Given the description of an element on the screen output the (x, y) to click on. 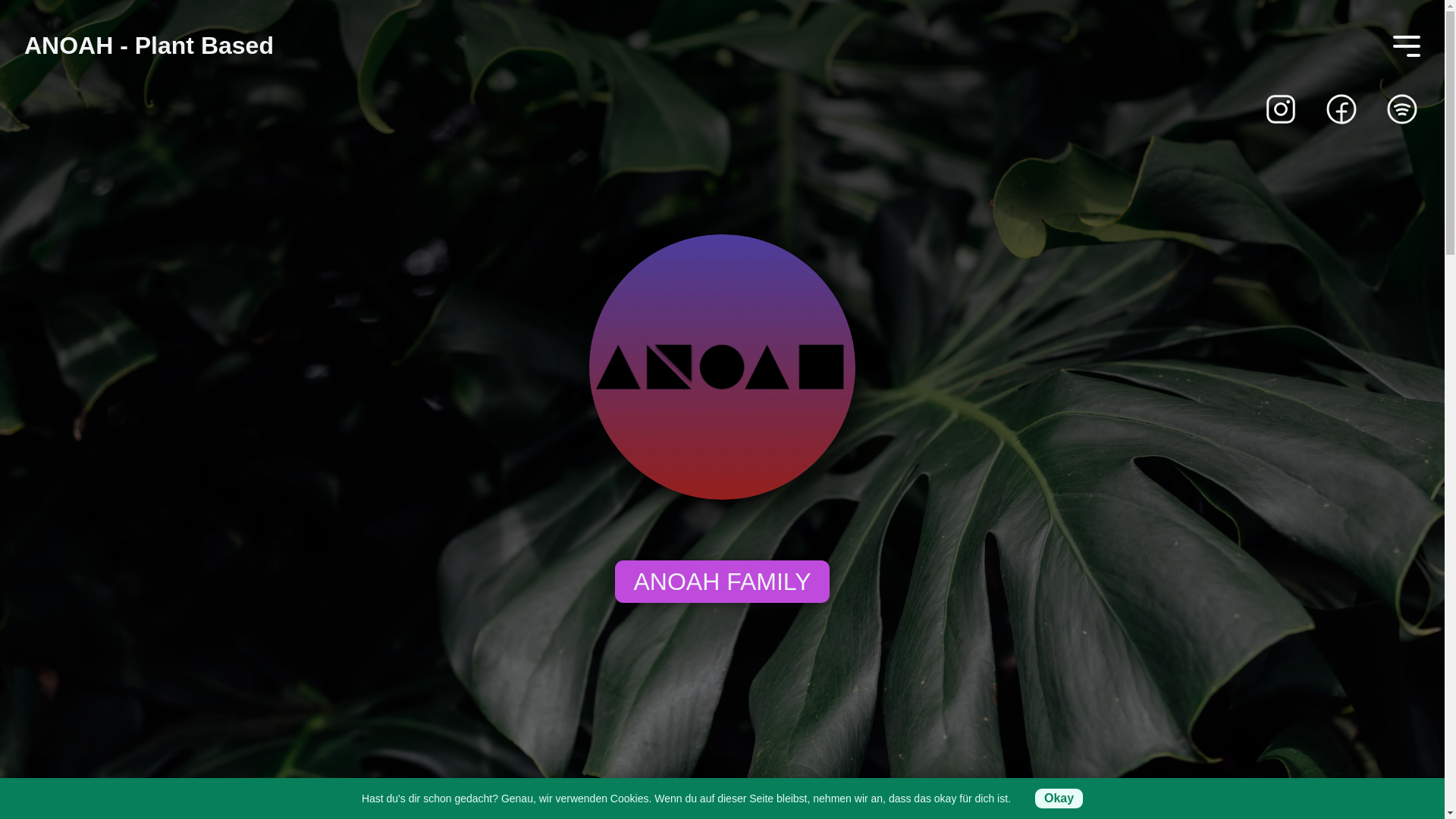
Okay Element type: text (1058, 798)
ANOAH FAMILY Element type: text (721, 581)
ANOAH - Plant Based Element type: text (148, 45)
